Given the description of an element on the screen output the (x, y) to click on. 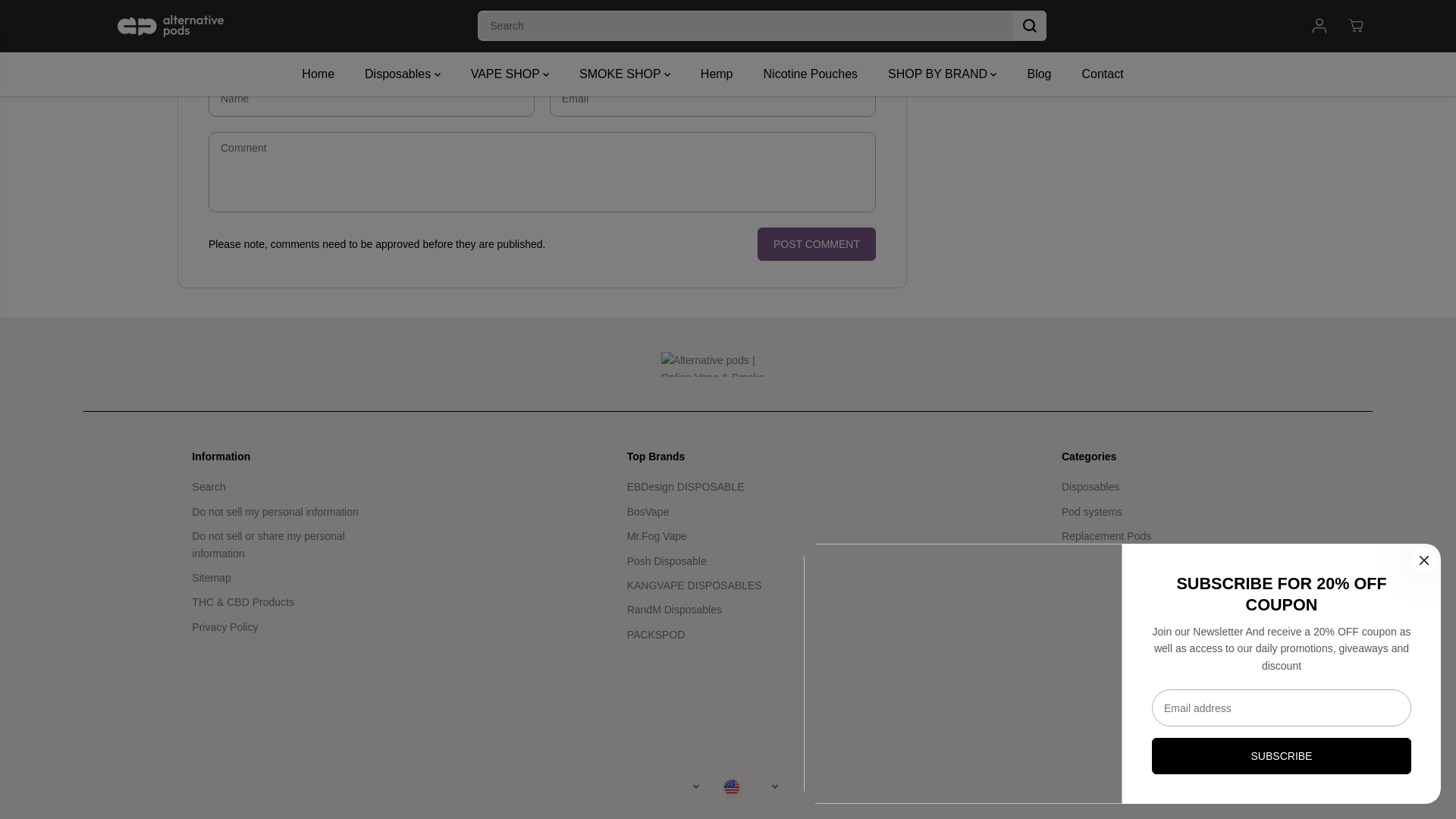
Mastercard (1317, 787)
American Express (1171, 787)
Visa (1353, 787)
Diners Club (1208, 787)
Discover (1244, 787)
JCB (1280, 787)
